Given the description of an element on the screen output the (x, y) to click on. 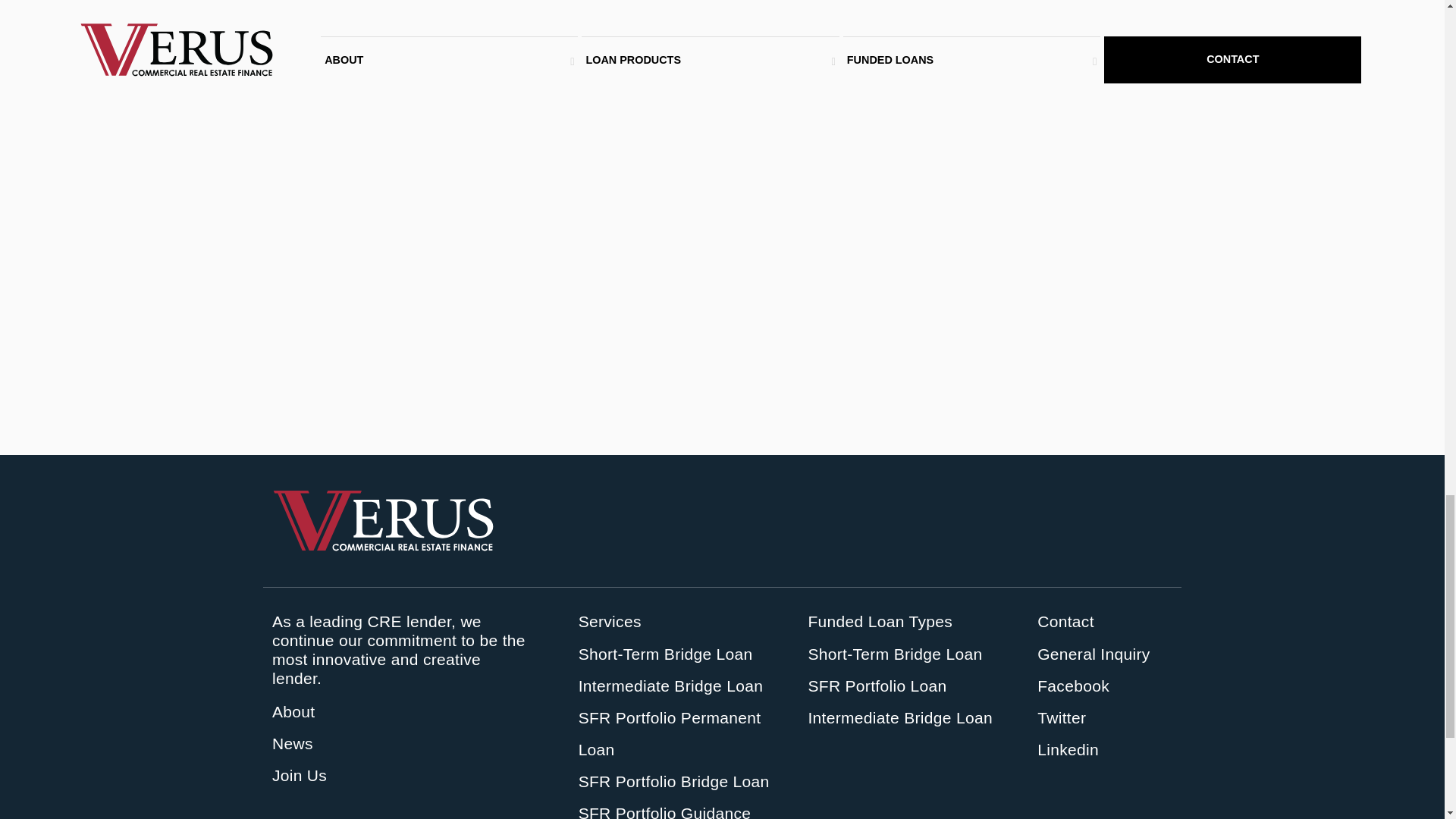
About (293, 711)
News (292, 743)
